Given the description of an element on the screen output the (x, y) to click on. 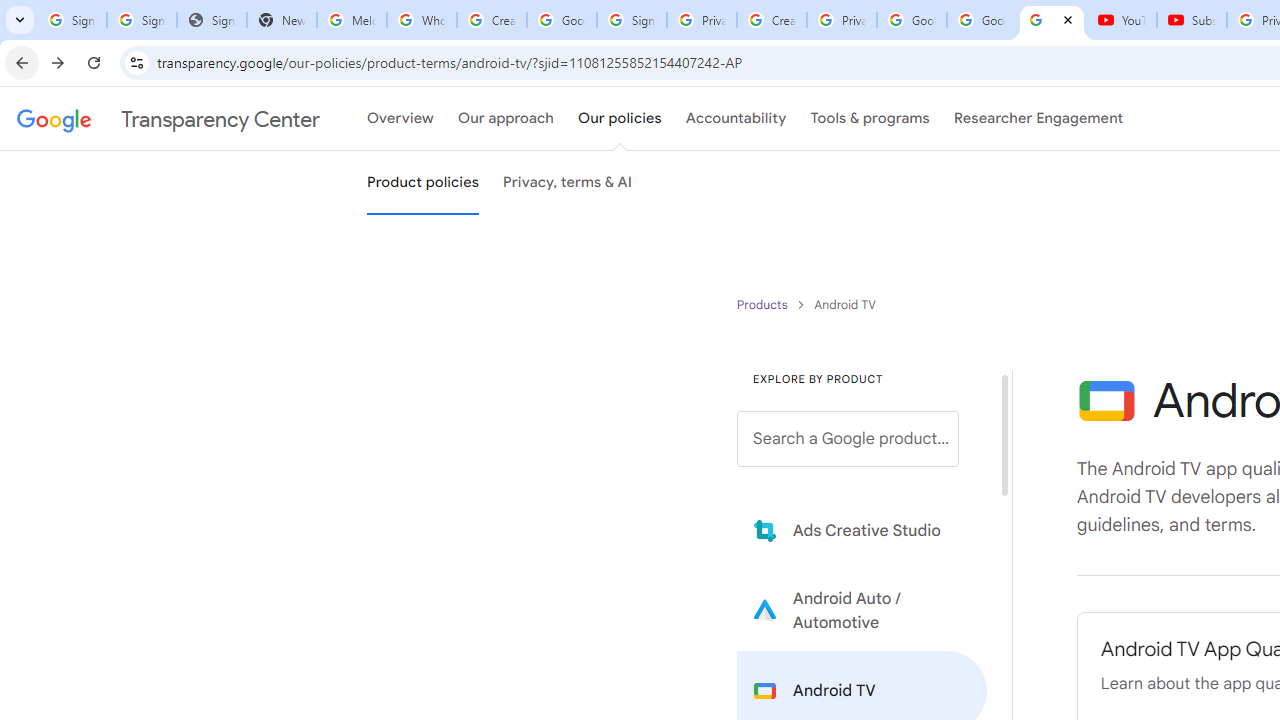
Search a Google product from below list. (847, 439)
Learn more about Ads Creative Studio (862, 530)
Tools & programs (869, 119)
Accountability (735, 119)
Transparency Center (167, 119)
Our policies (619, 119)
